Given the description of an element on the screen output the (x, y) to click on. 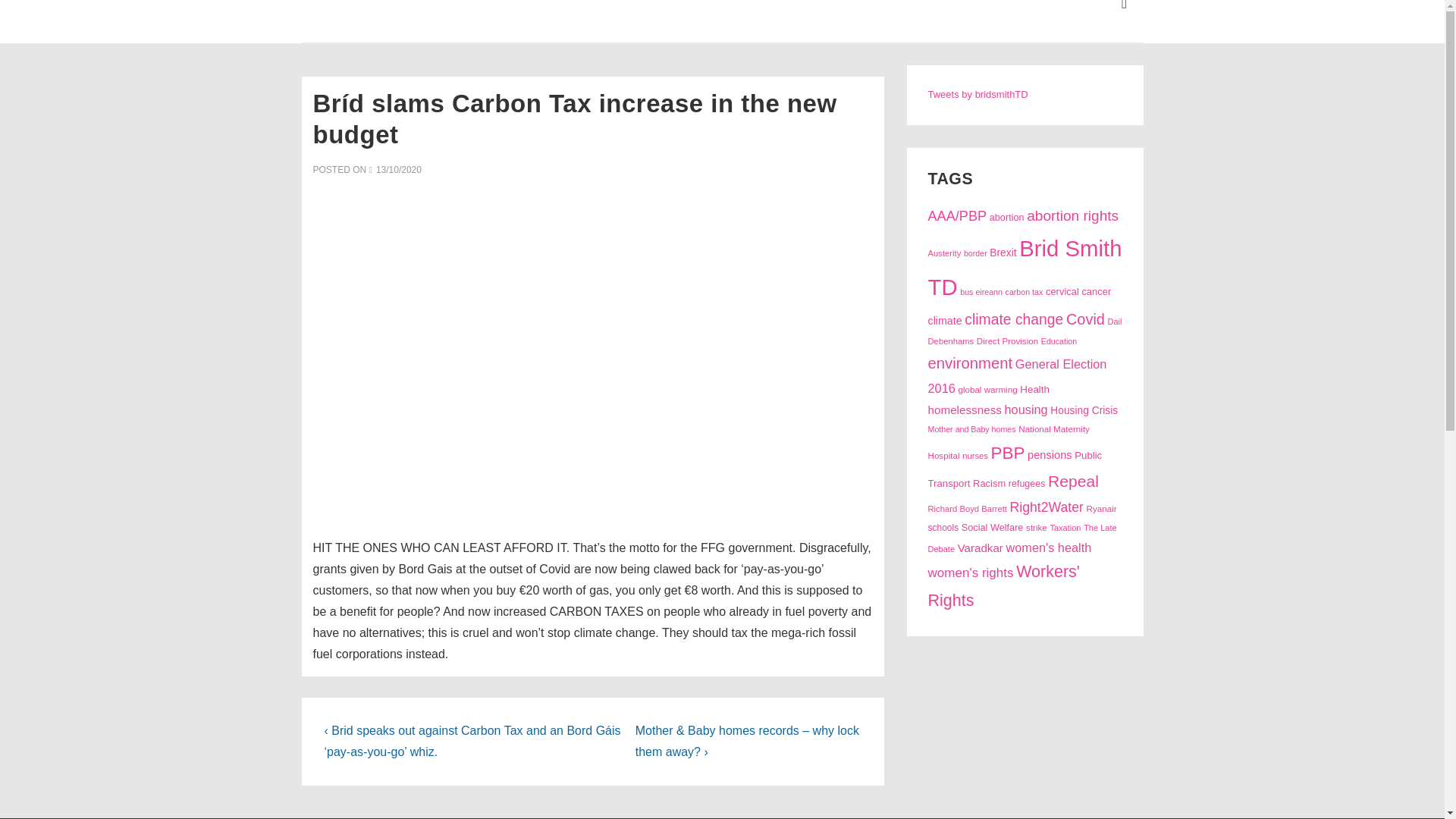
Austerity (944, 252)
abortion rights (1072, 215)
Covid (1085, 319)
National Maternity Hospital (1008, 442)
Health (1034, 389)
Direct Provision (1007, 340)
Mother and Baby homes (972, 429)
climate change (1012, 319)
Brid Smith TD (1025, 267)
homelessness (964, 409)
environment (970, 362)
cervical cancer (1077, 291)
Education (1059, 340)
Brexit (1003, 252)
nurses (975, 455)
